Given the description of an element on the screen output the (x, y) to click on. 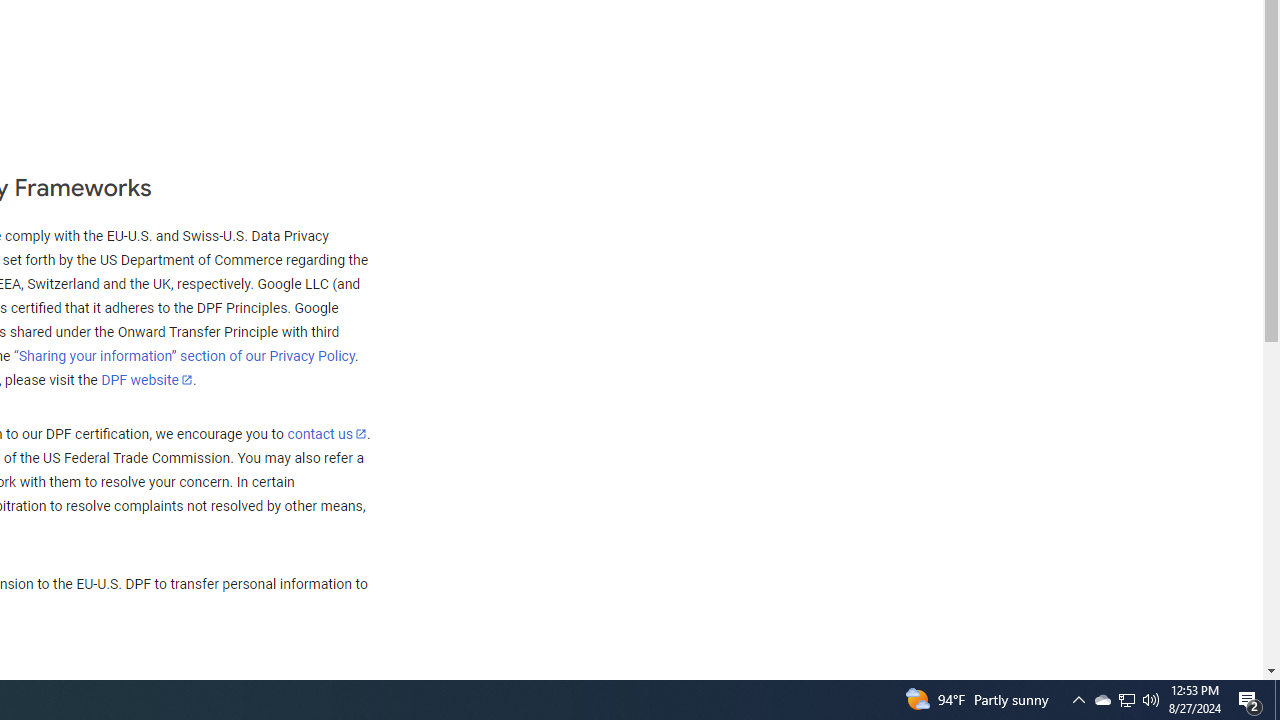
DPF website (147, 379)
contact us (326, 433)
